Given the description of an element on the screen output the (x, y) to click on. 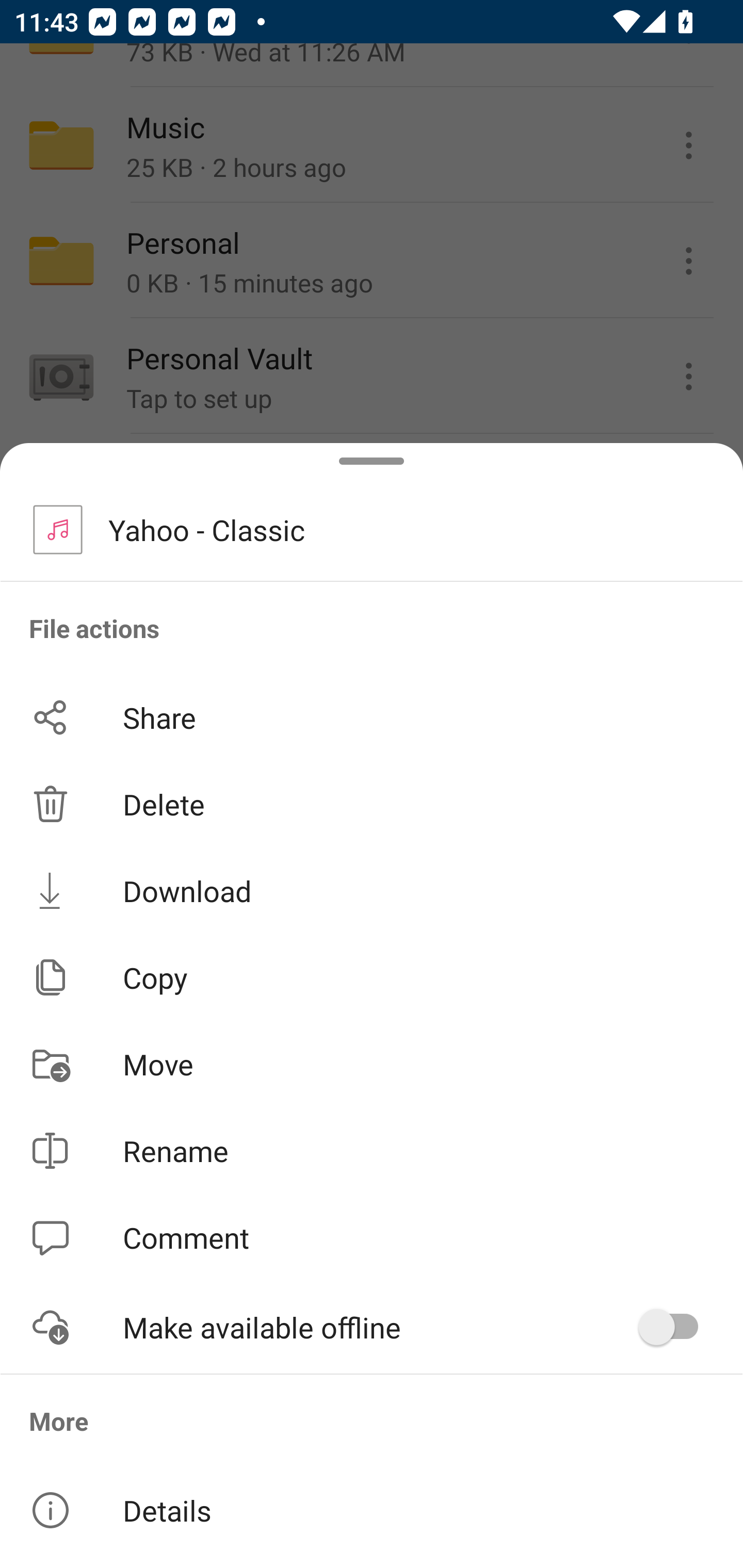
Share button Share (371, 717)
Delete button Delete (371, 803)
Download button Download (371, 890)
Copy button Copy (371, 977)
Move button Move (371, 1063)
Rename button Rename (371, 1150)
Comment button Comment (371, 1237)
Make offline operation (674, 1327)
Details button Details (371, 1510)
